Given the description of an element on the screen output the (x, y) to click on. 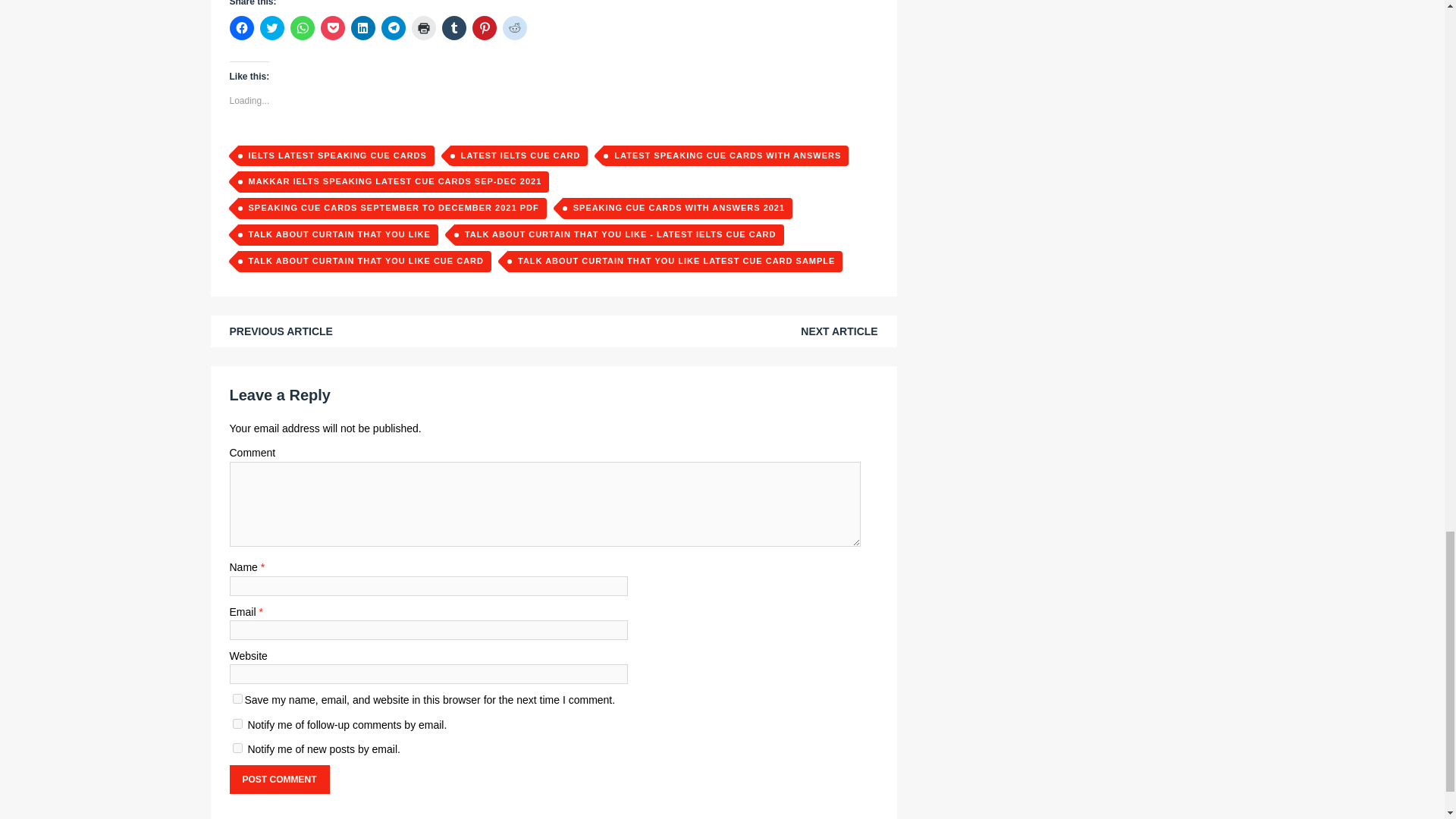
Click to share on Pinterest (483, 27)
Click to share on WhatsApp (301, 27)
Click to share on Telegram (392, 27)
Click to share on Facebook (240, 27)
yes (236, 698)
subscribe (236, 747)
Click to share on Tumblr (453, 27)
Click to share on Pocket (331, 27)
Click to share on Reddit (513, 27)
Click to share on LinkedIn (362, 27)
